Given the description of an element on the screen output the (x, y) to click on. 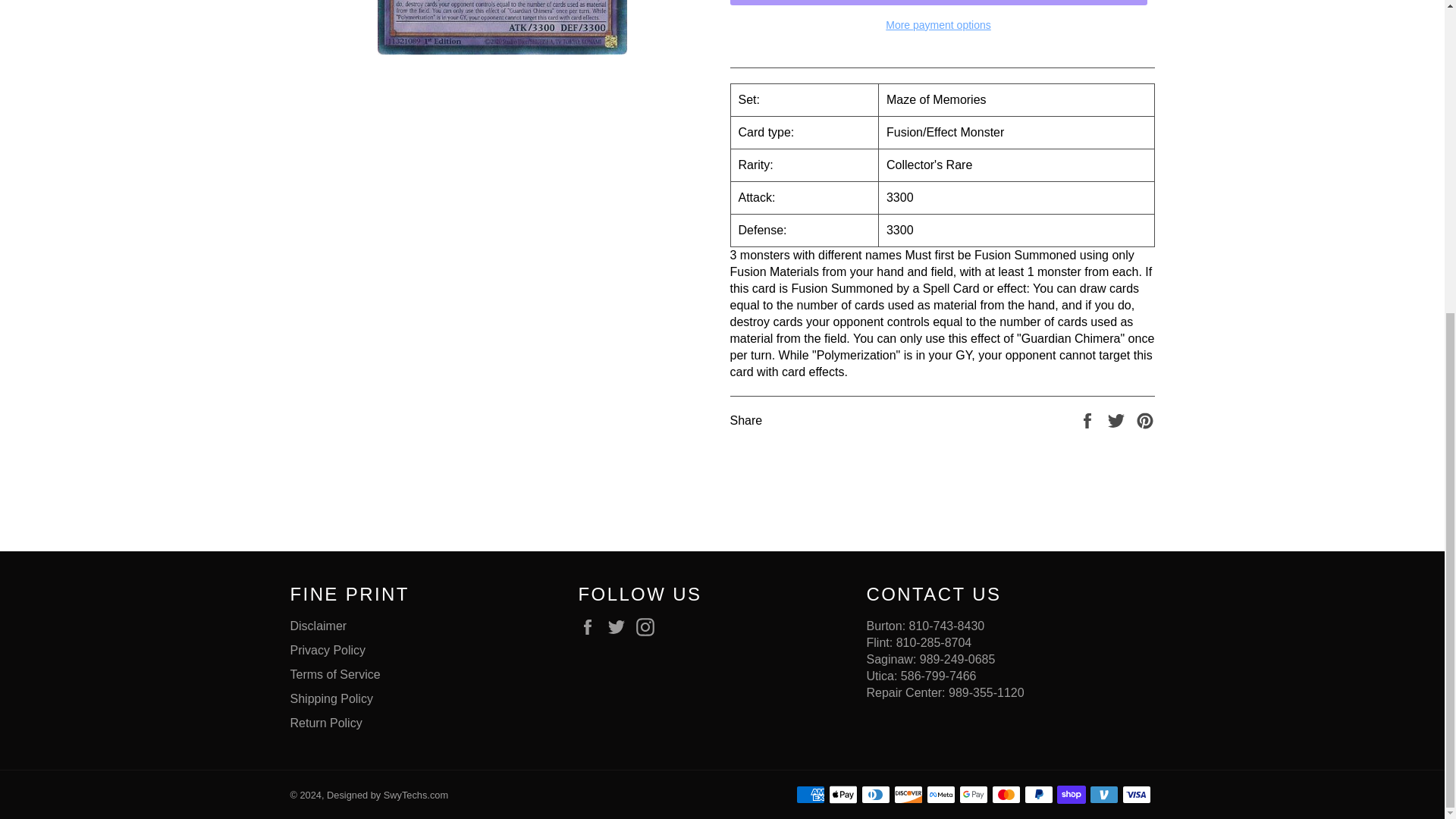
tel:989-355-1120 (987, 692)
tel:989-249-0685 (957, 658)
Media Reload on Instagram (649, 627)
Tweet on Twitter (1117, 419)
Media Reload on Twitter (620, 627)
tel:810-743-8430 (946, 625)
Media Reload on Facebook (591, 627)
tel:810-285-8704 (934, 642)
Pin on Pinterest (1144, 419)
Share on Facebook (1088, 419)
